Given the description of an element on the screen output the (x, y) to click on. 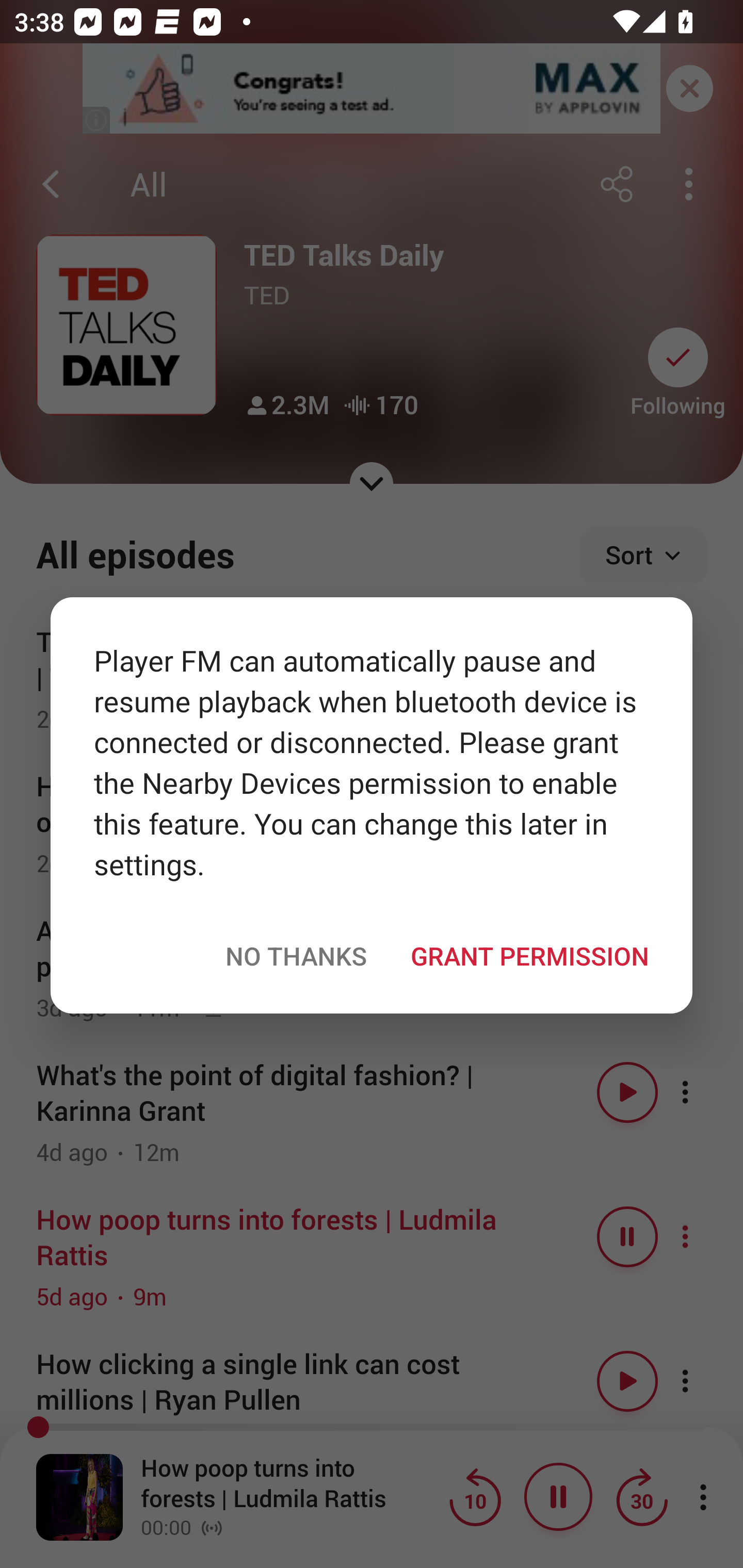
NO THANKS (295, 955)
GRANT PERMISSION (529, 955)
